Given the description of an element on the screen output the (x, y) to click on. 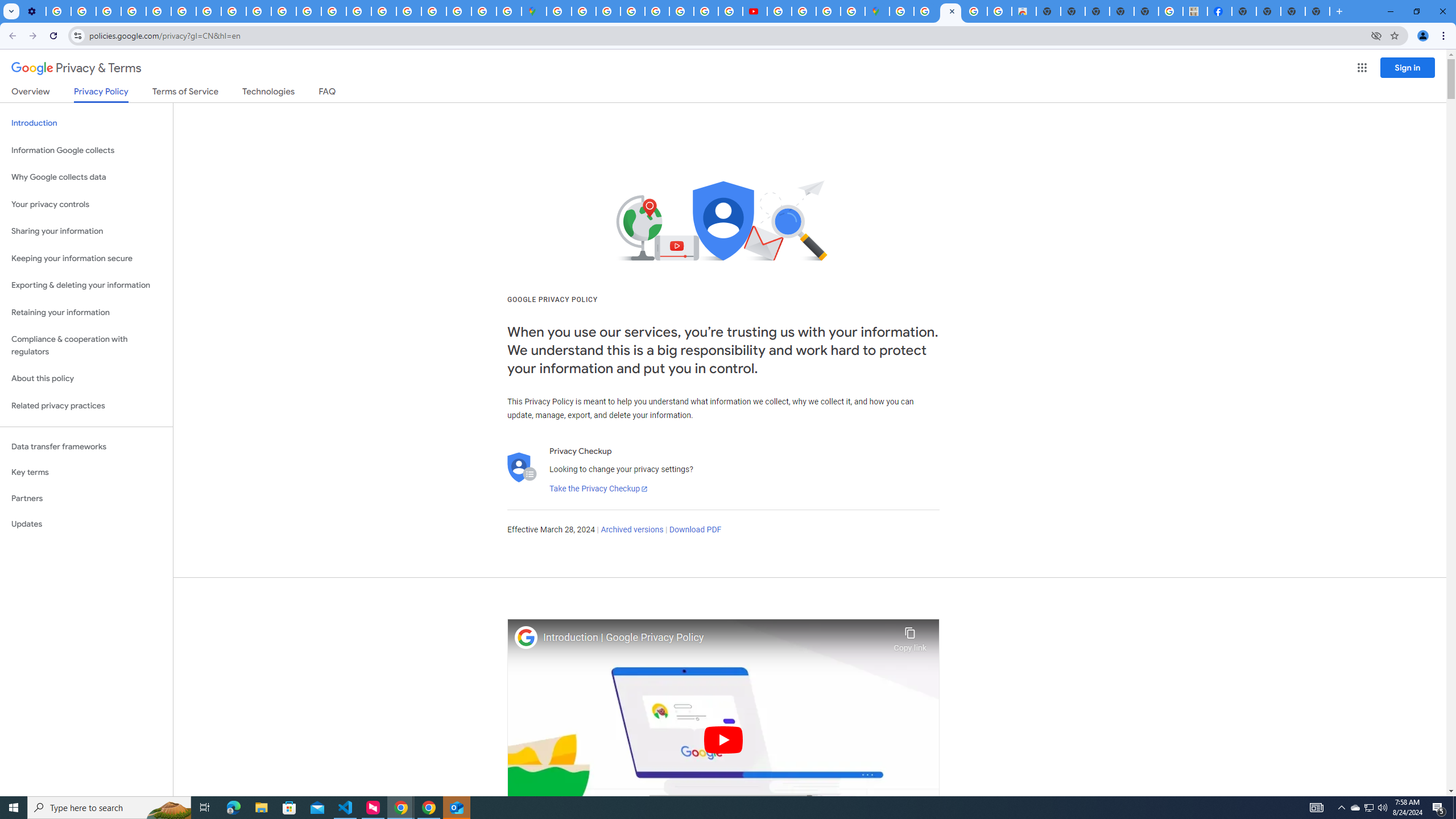
Privacy Help Center - Policies Help (705, 11)
Sign in - Google Accounts (433, 11)
Privacy Help Center - Policies Help (332, 11)
Privacy Help Center - Policies Help (680, 11)
Terms and Conditions (656, 11)
